Given the description of an element on the screen output the (x, y) to click on. 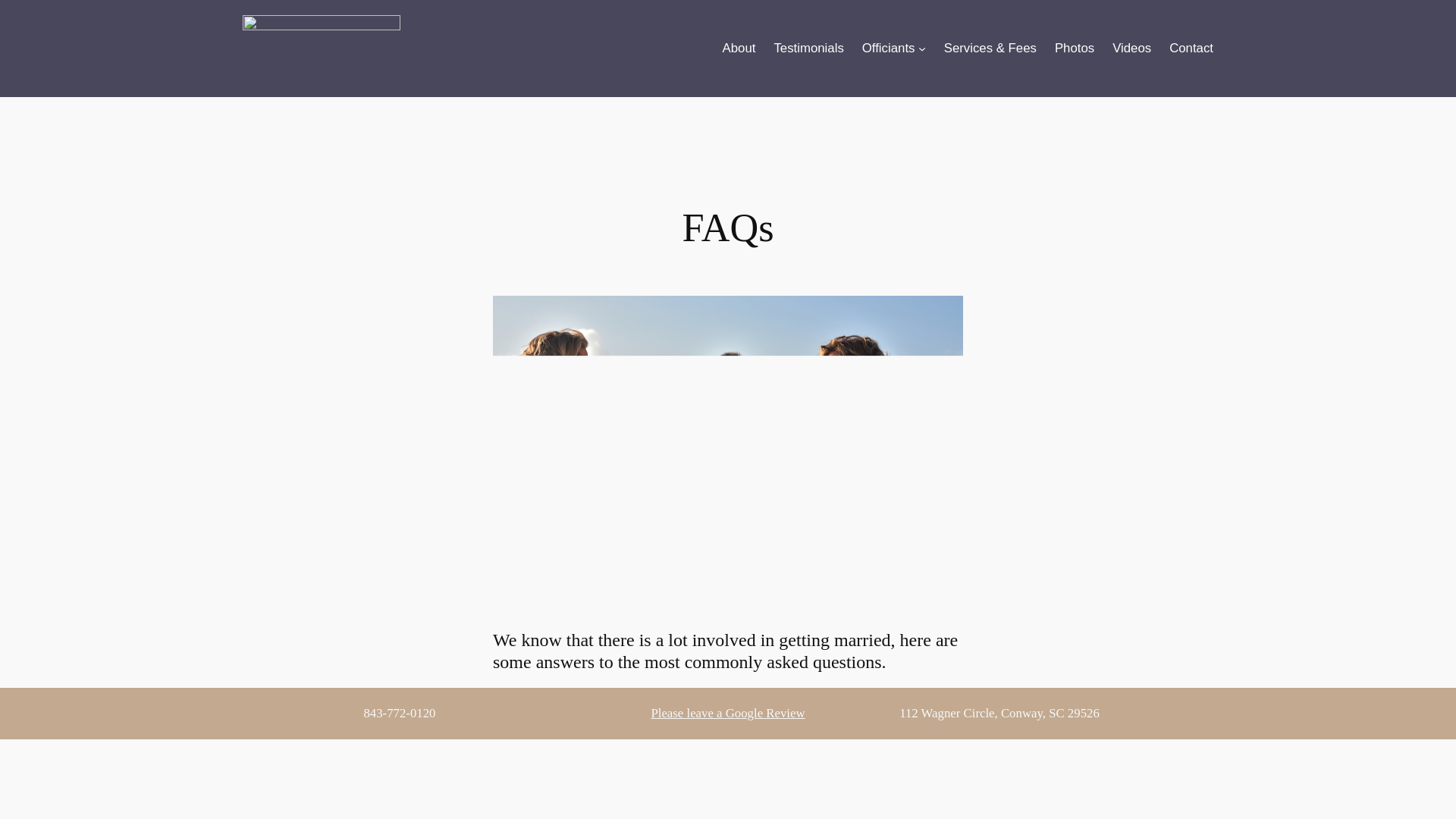
Please leave a Google Review (727, 712)
Contact (1190, 48)
Testimonials (808, 48)
About (738, 48)
Photos (1074, 48)
Officiants (888, 48)
Videos (1131, 48)
